Given the description of an element on the screen output the (x, y) to click on. 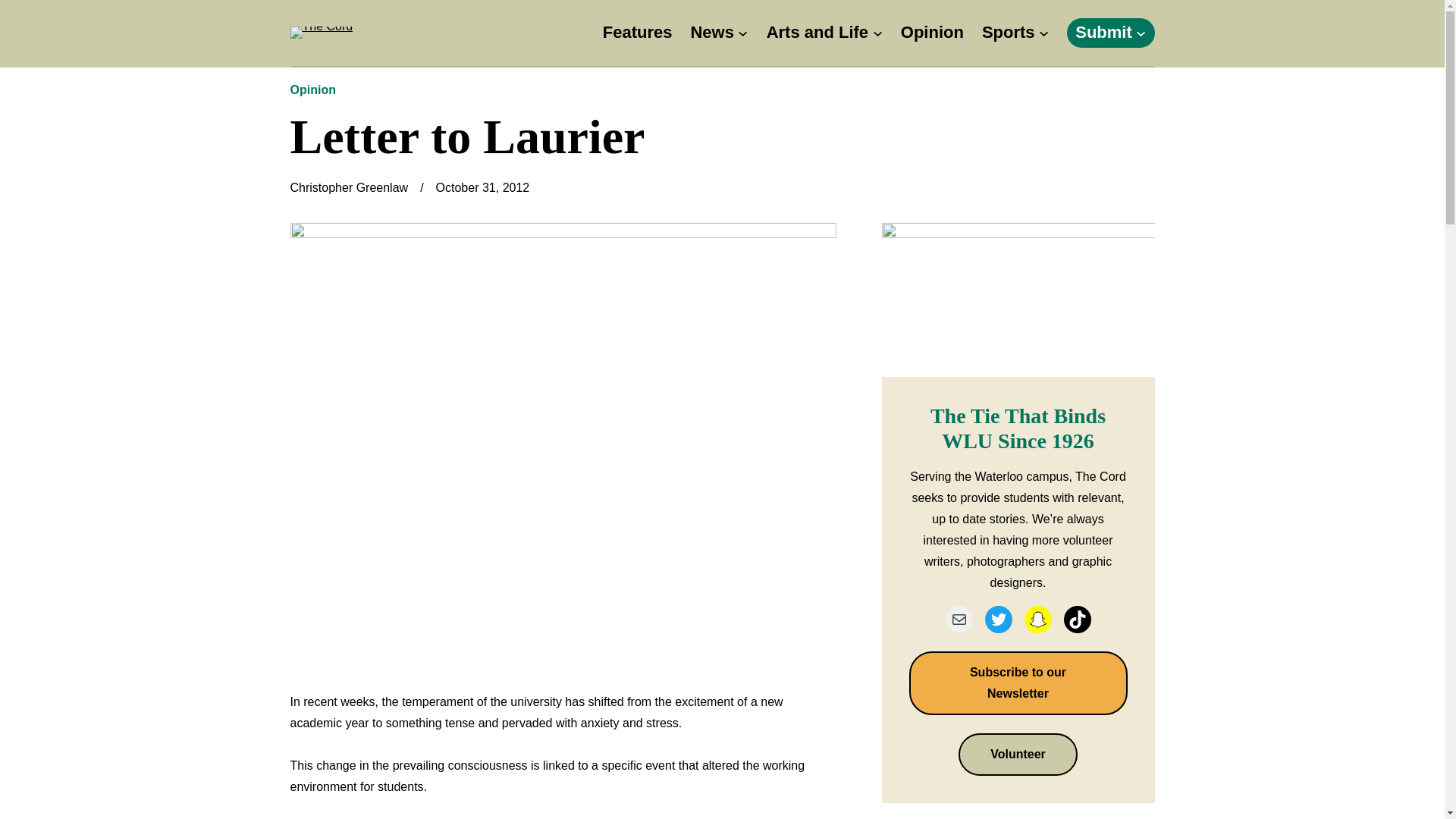
Twitter (997, 619)
Sports (1008, 32)
Opinion (932, 32)
Subscribe to our Newsletter (1017, 682)
Opinion (311, 89)
Snapchat (1037, 619)
Arts and Life (817, 32)
News (711, 32)
Mail (958, 619)
TikTok (1076, 619)
